Given the description of an element on the screen output the (x, y) to click on. 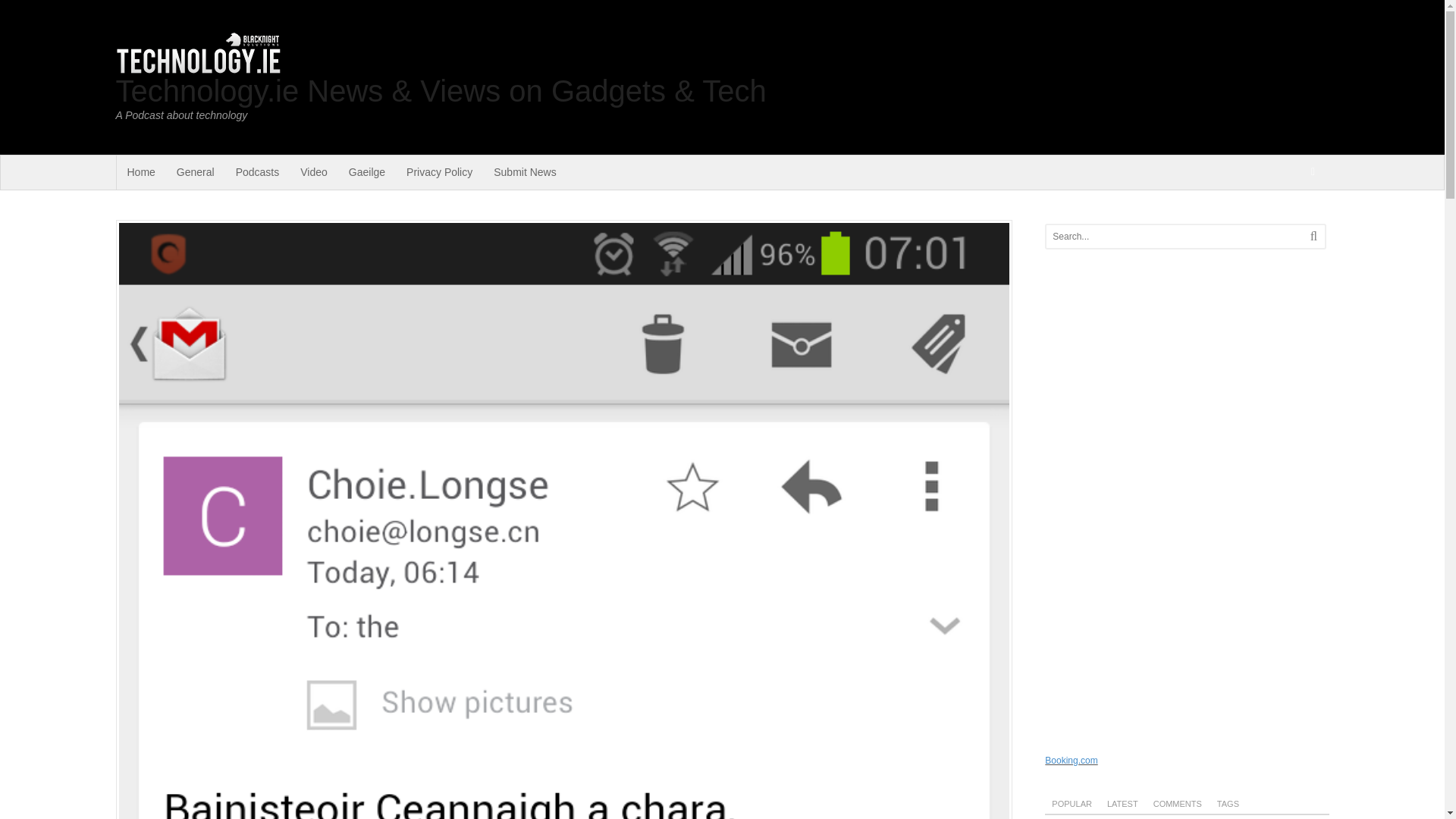
Video (313, 172)
Gaeilge (366, 172)
Search... (1170, 236)
Privacy Policy (439, 172)
Submit News (524, 172)
General (195, 172)
A Podcast about technology (197, 67)
Home (140, 172)
Technoloy.ie Home Page (140, 172)
Podcasts (257, 172)
